Given the description of an element on the screen output the (x, y) to click on. 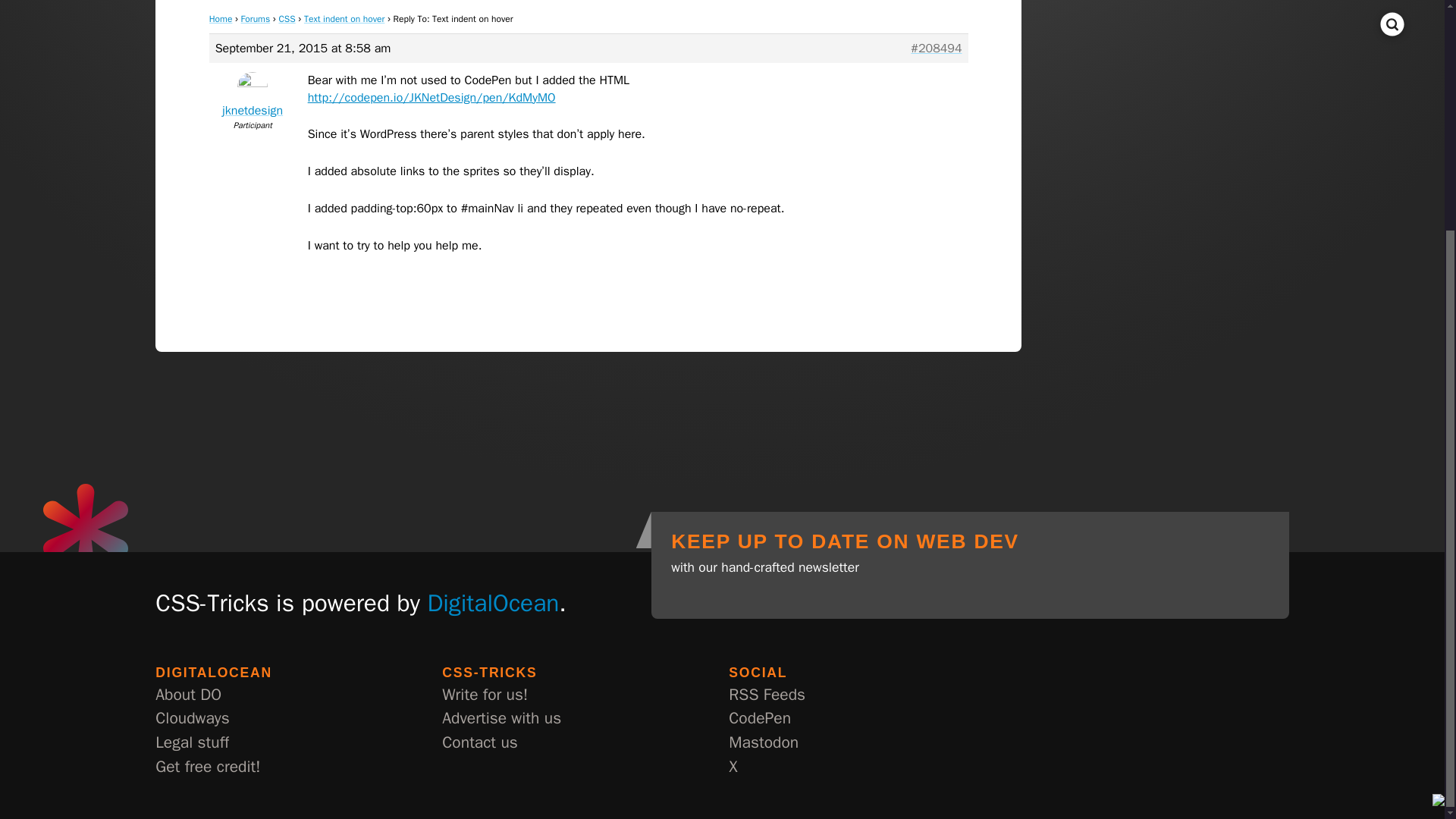
CSS (286, 19)
Advertise with us (501, 718)
Cloudways (191, 718)
Forums (255, 19)
Legal stuff (191, 743)
Mastodon (763, 743)
jknetdesign (253, 97)
X (732, 767)
DigitalOcean (492, 603)
CodePen (759, 718)
Home (220, 19)
View jknetdesign's profile (253, 97)
About DO (188, 695)
Write for us! (484, 695)
RSS Feeds (767, 695)
